Given the description of an element on the screen output the (x, y) to click on. 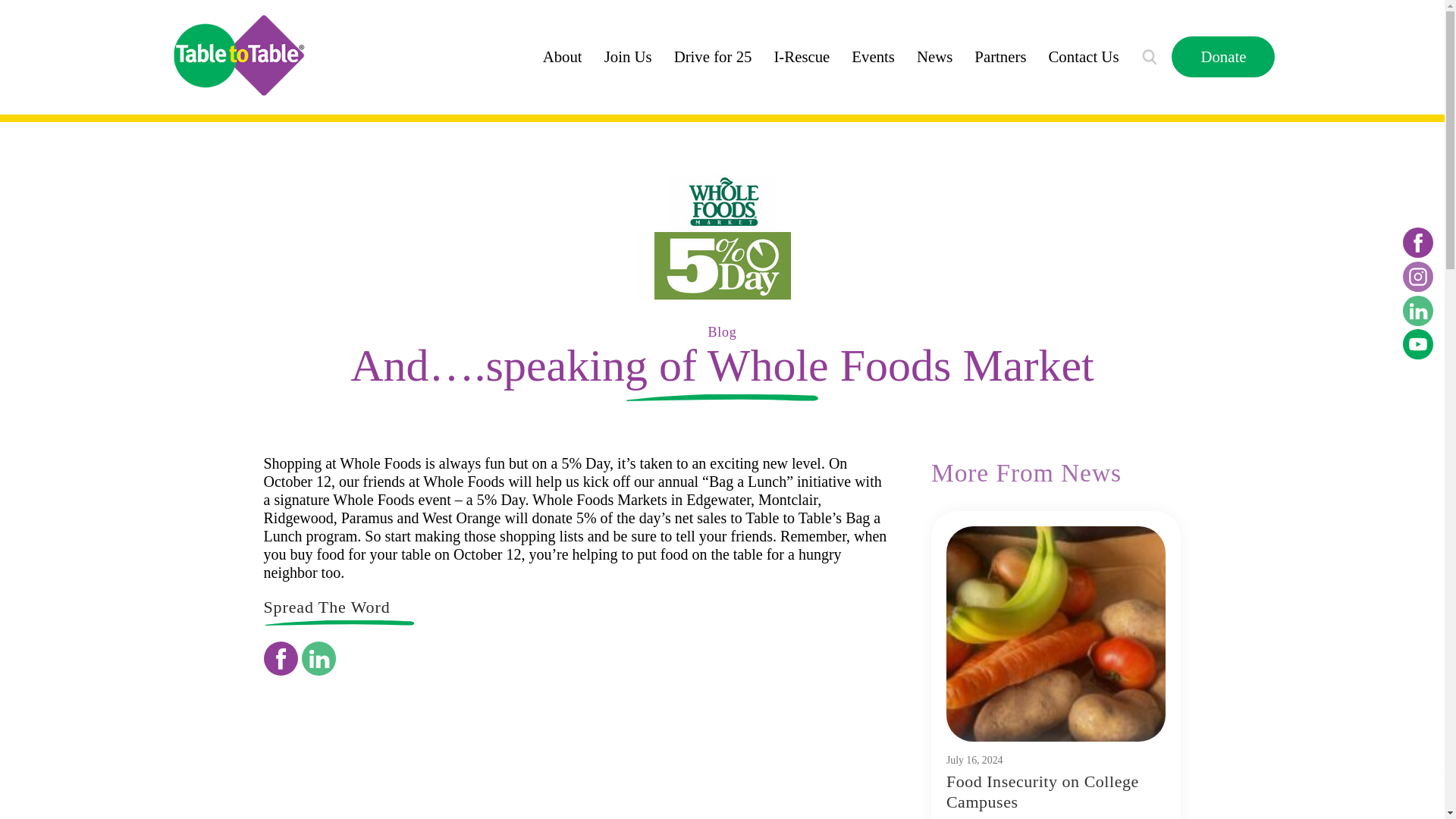
LinkedIN (318, 658)
Instagram (1417, 276)
Food Insecurity on College Campuses (1042, 792)
Youtube (1417, 344)
Food Insecurity on College Campuses (1056, 634)
About (562, 56)
Blog (721, 331)
LinkedIN (1417, 310)
Table to Table (238, 55)
Facebook (1417, 242)
Facebook (280, 658)
